Given the description of an element on the screen output the (x, y) to click on. 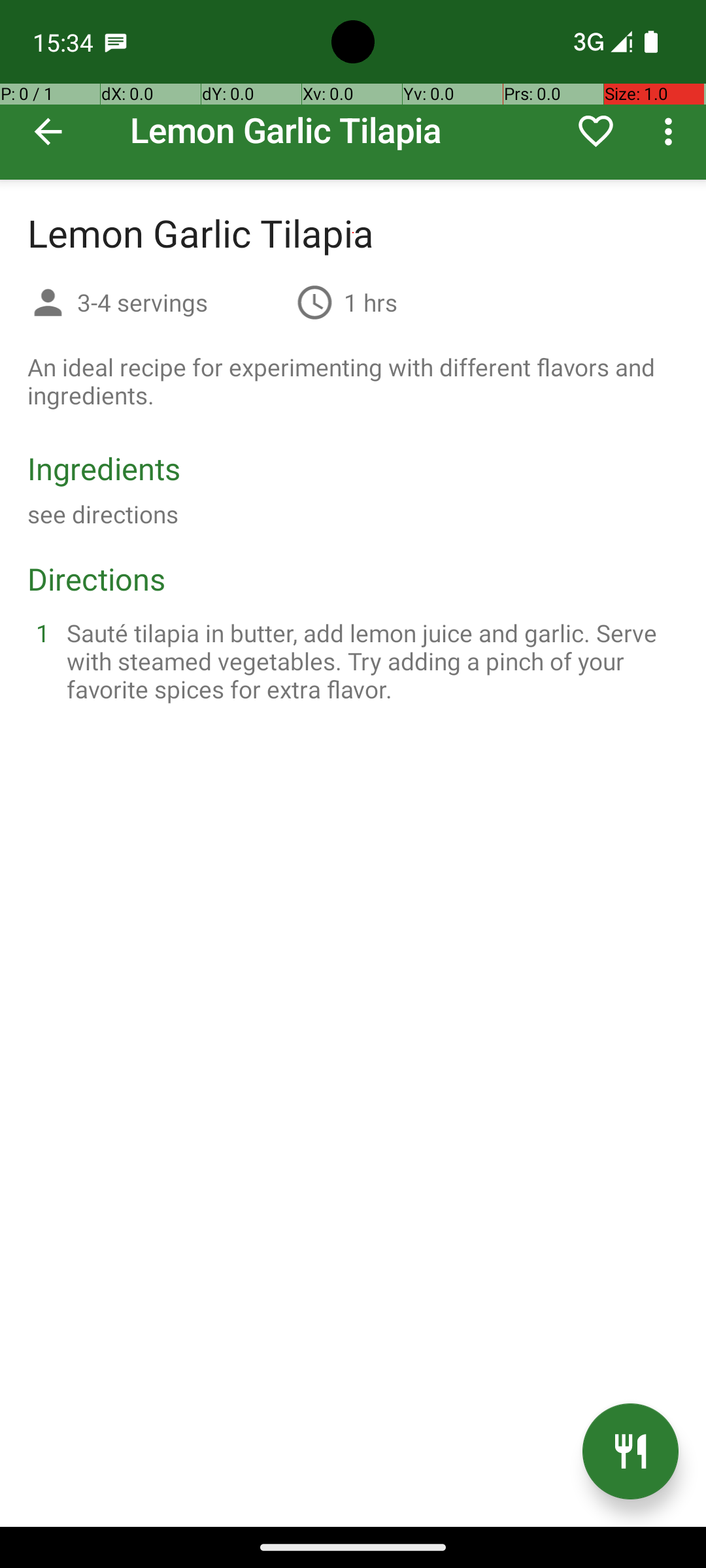
Lemon Garlic Tilapia Element type: android.widget.FrameLayout (353, 89)
Cook Element type: android.widget.ImageButton (630, 1451)
Recipe photo Element type: android.widget.ImageView (353, 89)
Mark as favorite Element type: android.widget.Button (595, 131)
Servings Element type: android.widget.ImageView (47, 303)
3-4 servings Element type: android.widget.TextView (181, 301)
1 hrs Element type: android.widget.TextView (370, 301)
An ideal recipe for experimenting with different flavors and ingredients. Element type: android.widget.TextView (352, 380)
Ingredients Element type: android.widget.TextView (103, 467)
see directions Element type: android.widget.TextView (102, 513)
Directions Element type: android.widget.TextView (96, 578)
Sauté tilapia in butter, add lemon juice and garlic. Serve with steamed vegetables. Try adding a pinch of your favorite spices for extra flavor. Element type: android.widget.TextView (368, 660)
